Given the description of an element on the screen output the (x, y) to click on. 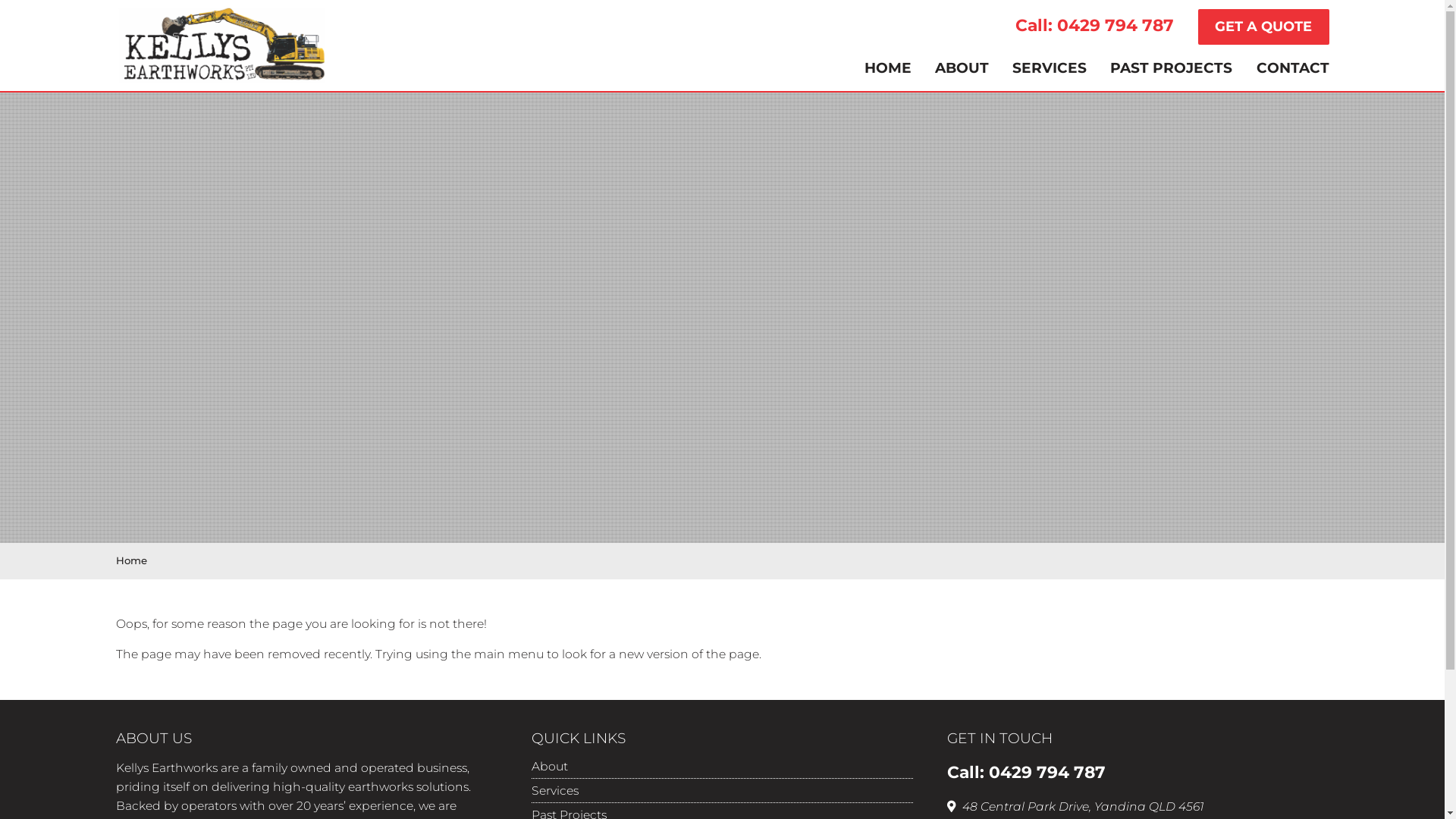
Home Element type: text (130, 560)
About Element type: text (722, 766)
GET A QUOTE Element type: text (1263, 26)
Call: 0429 794 787 Element type: text (1026, 773)
CONTACT Element type: text (1291, 68)
Services Element type: text (722, 790)
HOME Element type: text (887, 68)
ABOUT Element type: text (961, 68)
PAST PROJECTS Element type: text (1171, 68)
Kelly's Earthworks Element type: hover (221, 45)
SERVICES Element type: text (1049, 68)
48 Central Park Drive, Yandina QLD 4561 Element type: text (1075, 806)
Call: 0429 794 787 Element type: text (1104, 26)
